Given the description of an element on the screen output the (x, y) to click on. 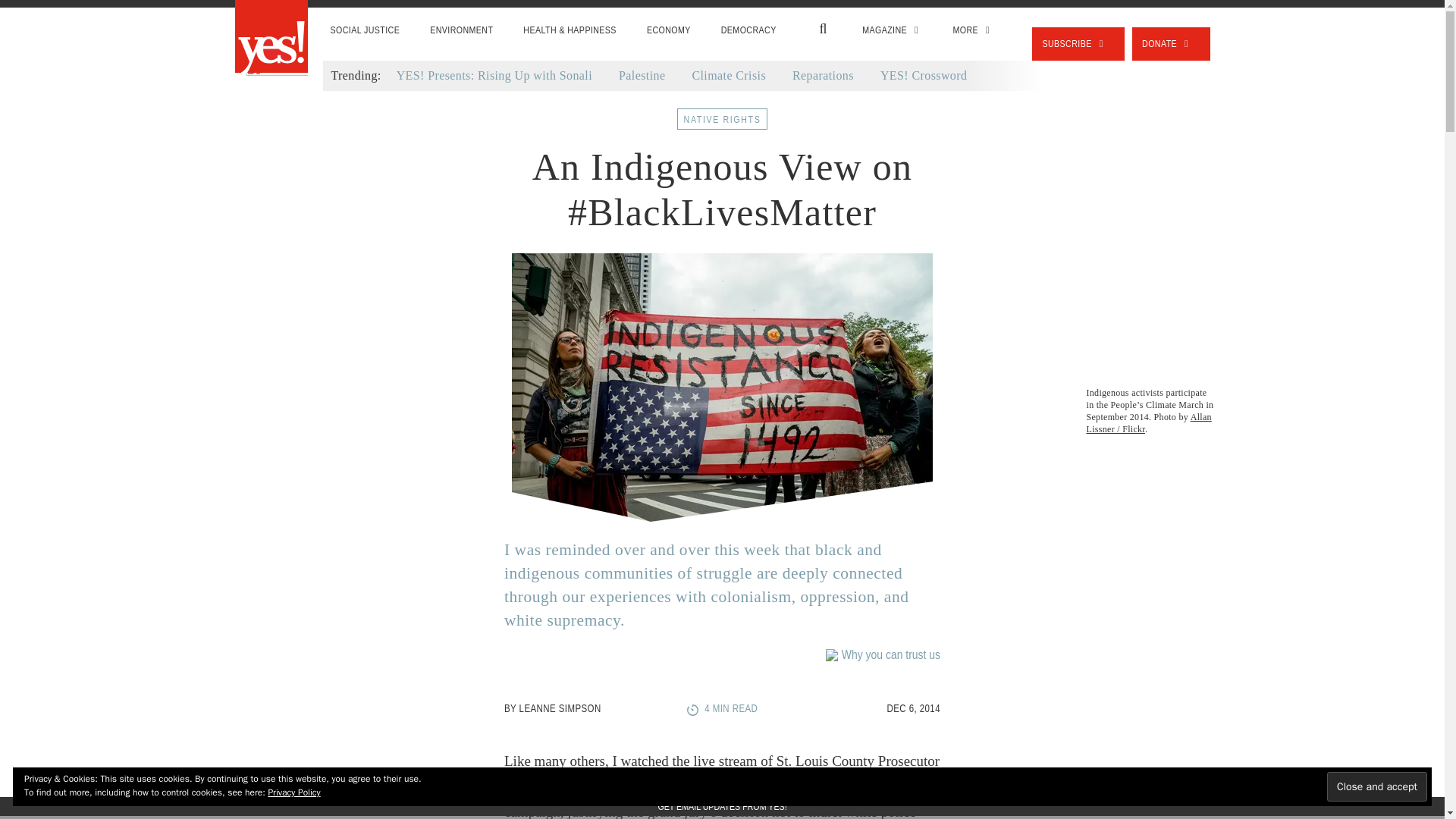
MORE (973, 30)
DEMOCRACY (749, 30)
ECONOMY (668, 30)
SUBSCRIBE (1078, 43)
DONATE (1170, 43)
Close and accept (1376, 786)
ENVIRONMENT (461, 30)
SOCIAL JUSTICE (364, 30)
